Given the description of an element on the screen output the (x, y) to click on. 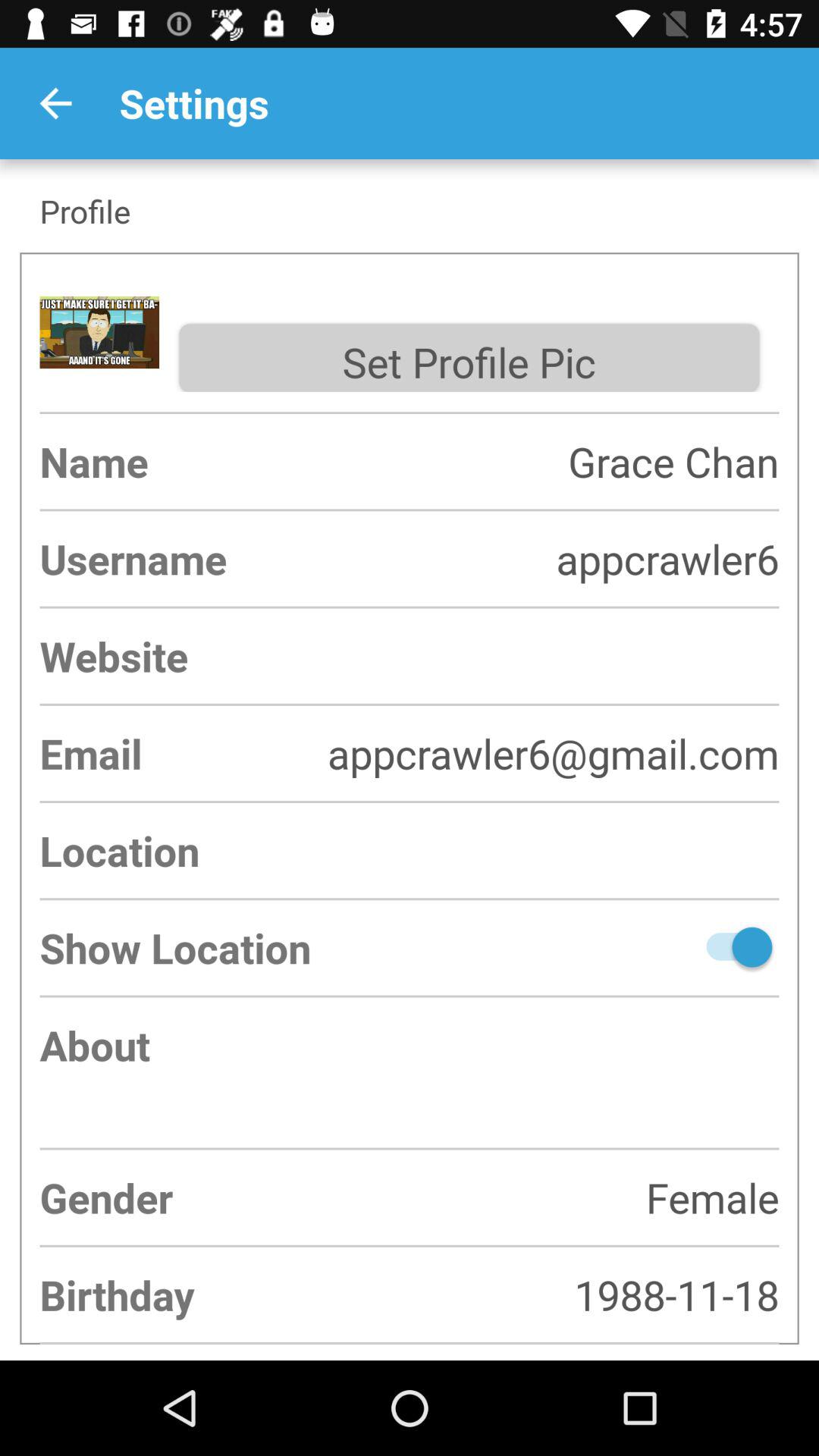
turn off the set profile pic item (469, 357)
